Given the description of an element on the screen output the (x, y) to click on. 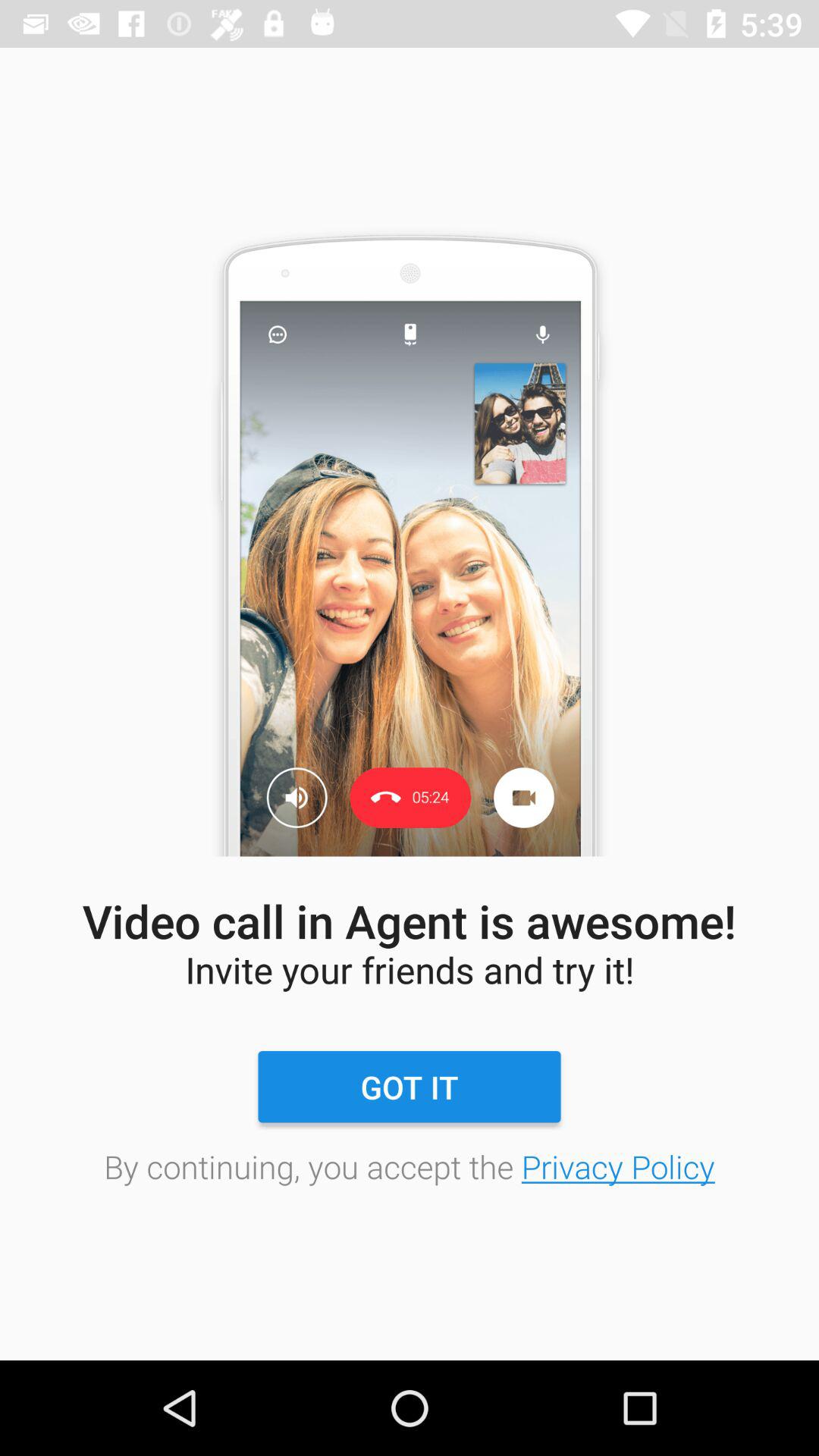
flip until the got it icon (409, 1086)
